Given the description of an element on the screen output the (x, y) to click on. 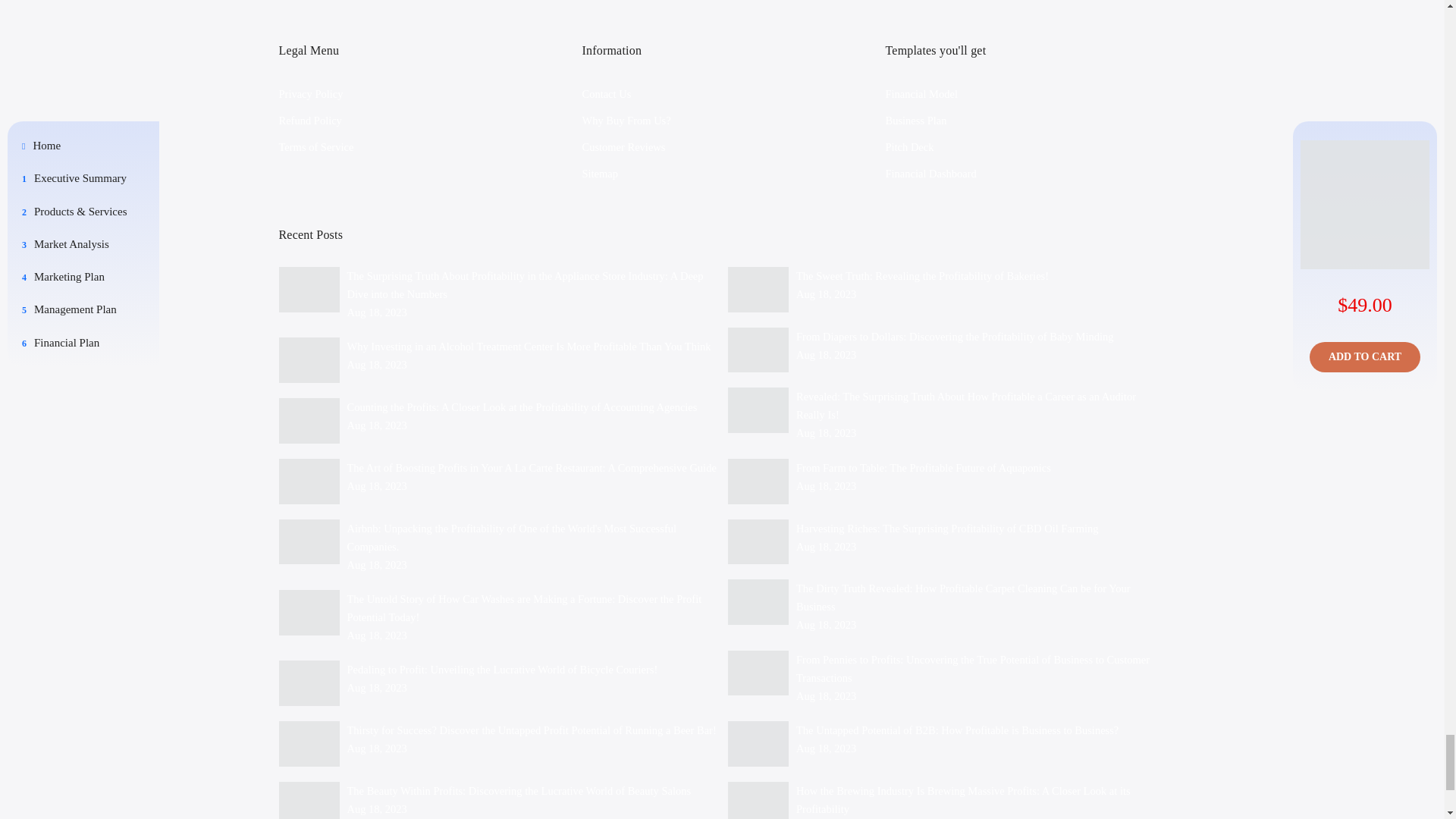
Privacy Policy (311, 93)
Customer Reviews (622, 146)
Why Buy From Us? (624, 120)
Terms of Service (316, 146)
Contact Us (605, 93)
Refund Policy (310, 120)
Sitemap (598, 173)
